Given the description of an element on the screen output the (x, y) to click on. 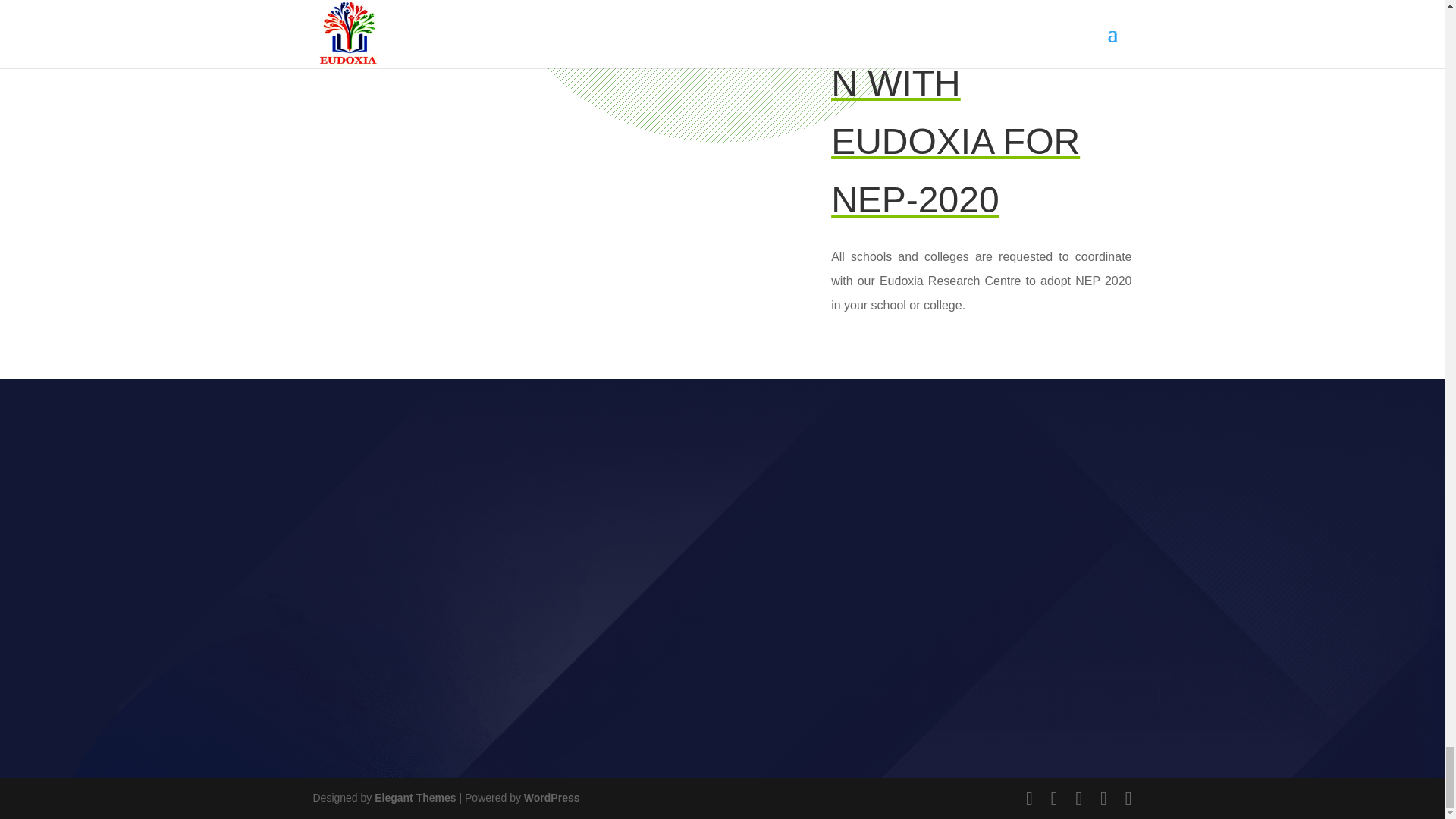
Premium WordPress Themes (414, 797)
